Given the description of an element on the screen output the (x, y) to click on. 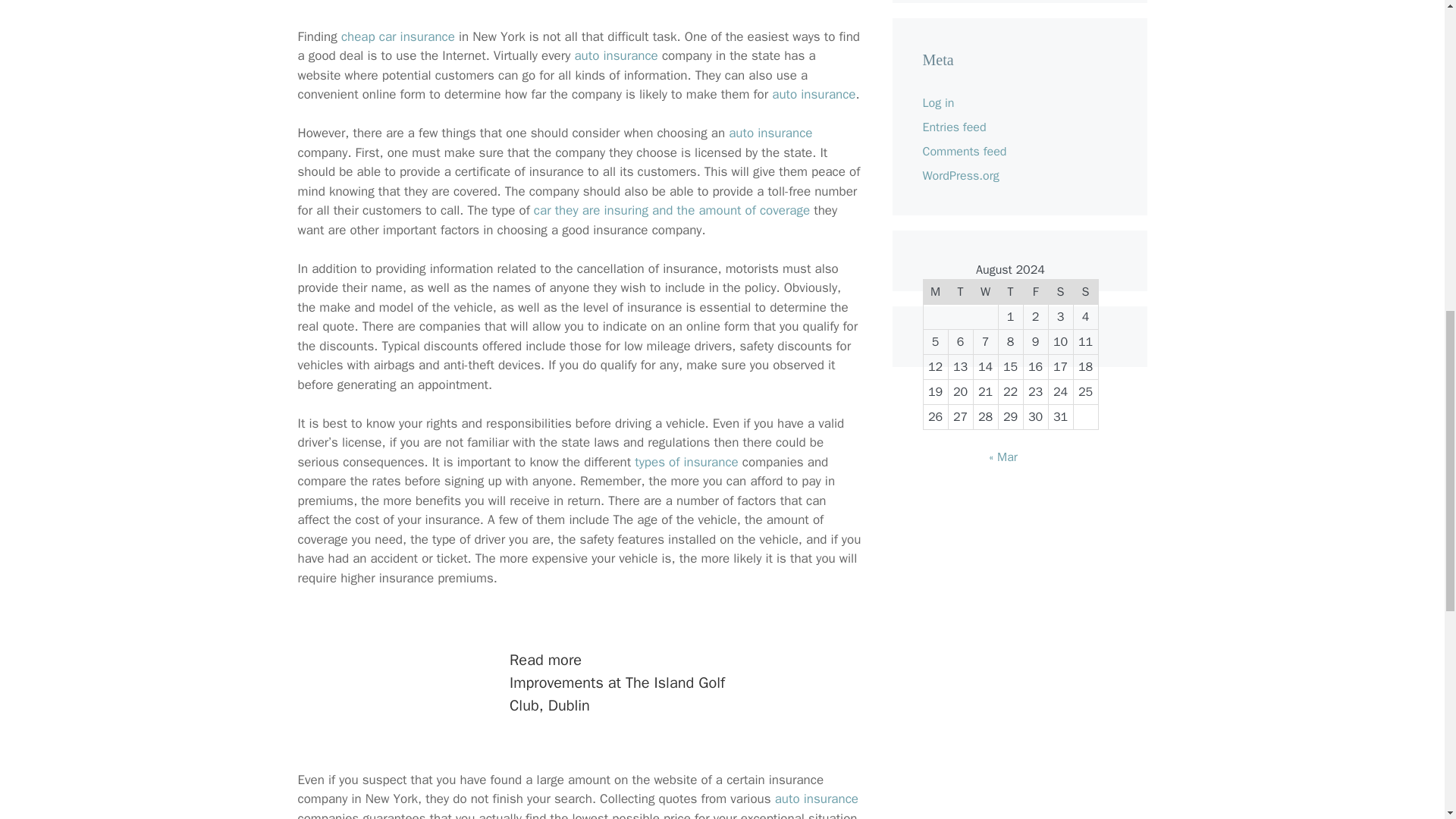
Friday (1035, 292)
Wednesday (984, 292)
Tuesday (959, 292)
Monday (935, 292)
Saturday (1060, 292)
Thursday (1010, 292)
Scroll back to top (1406, 720)
Sunday (1085, 292)
auto insurance (615, 55)
